Given the description of an element on the screen output the (x, y) to click on. 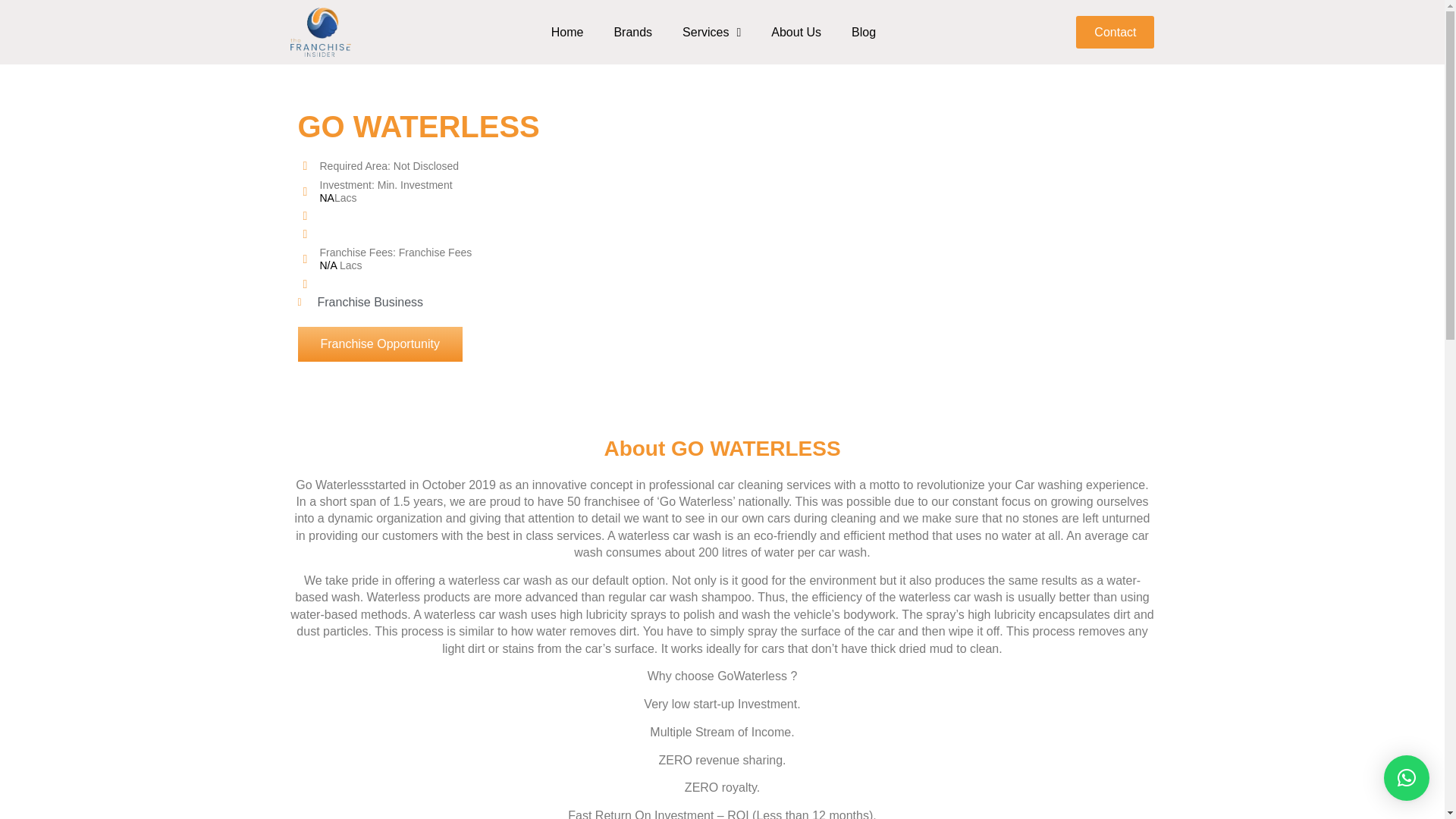
Home (566, 32)
Contact (1114, 31)
About Us (795, 32)
Blog (863, 32)
Brands (632, 32)
Franchise Business (370, 301)
Services (710, 32)
